Given the description of an element on the screen output the (x, y) to click on. 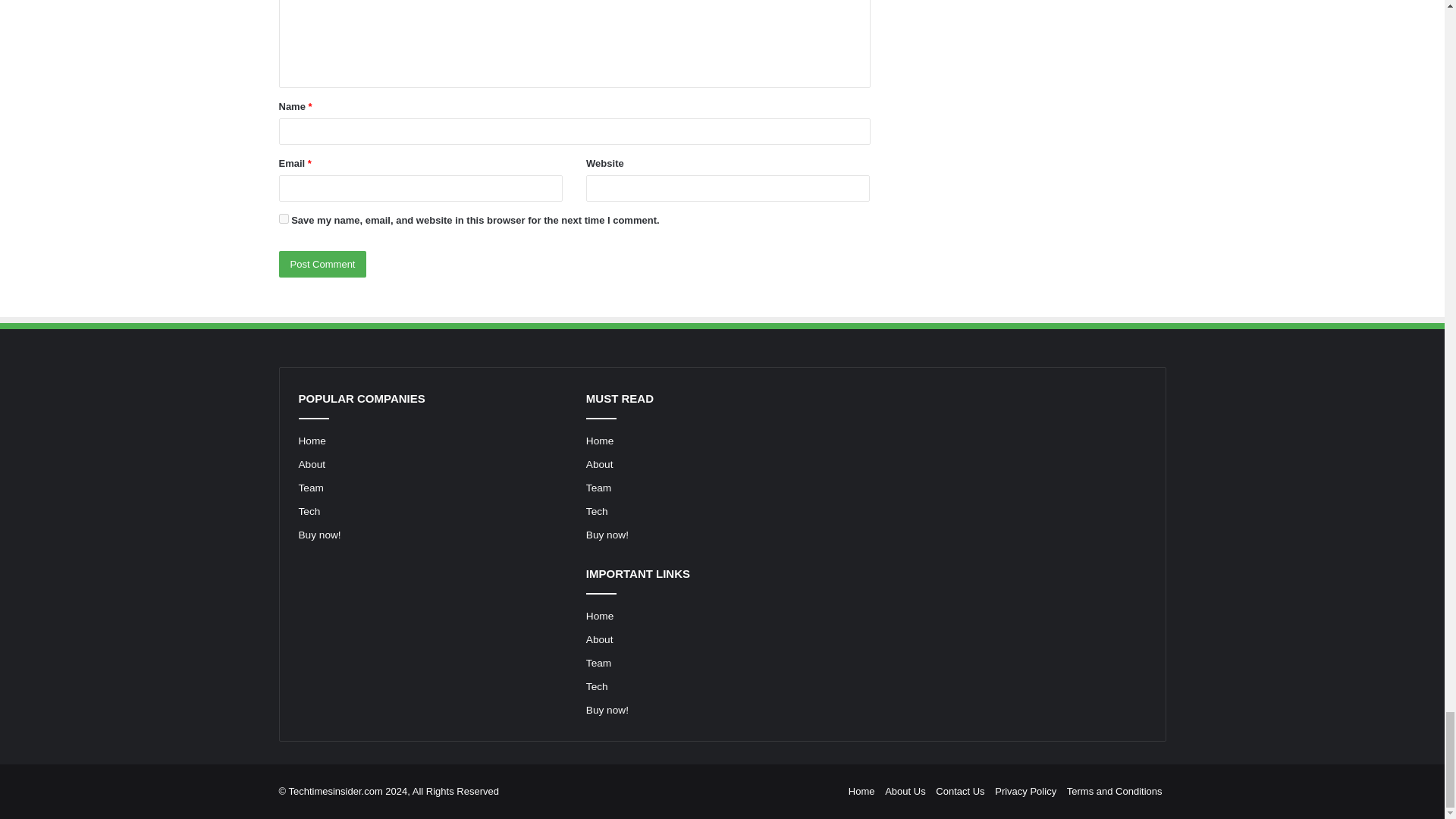
Post Comment (322, 263)
yes (283, 218)
